Given the description of an element on the screen output the (x, y) to click on. 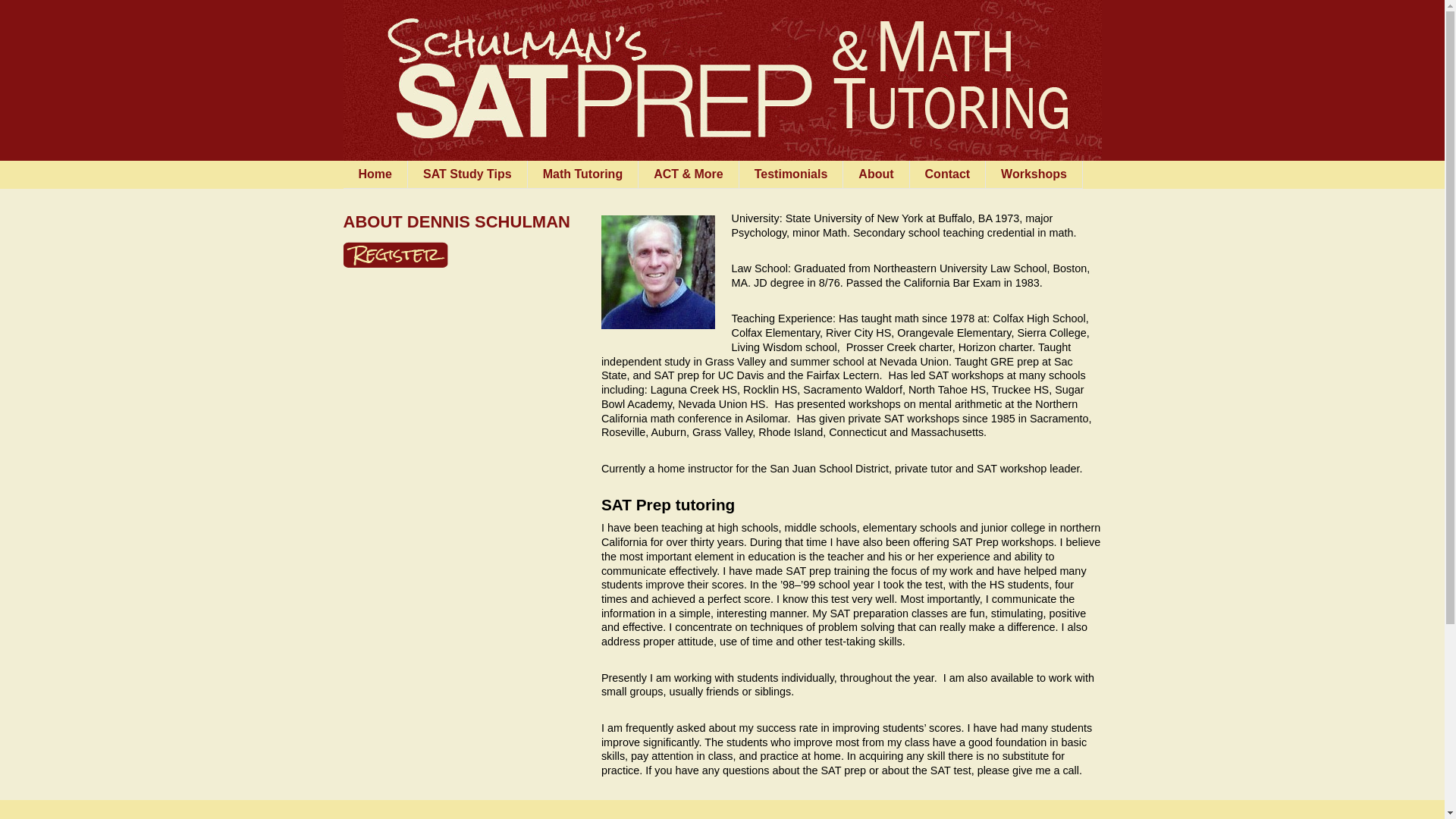
Schulman SAT Prep and Math Tutoring (721, 80)
Math Tutoring (582, 174)
Skip to content (401, 174)
Home (374, 174)
Skip to content (401, 174)
SAT Study Tips (467, 174)
Schulman SAT Prep and Math Tutoring (609, 12)
Home (374, 174)
Contact (947, 174)
About (875, 174)
